Given the description of an element on the screen output the (x, y) to click on. 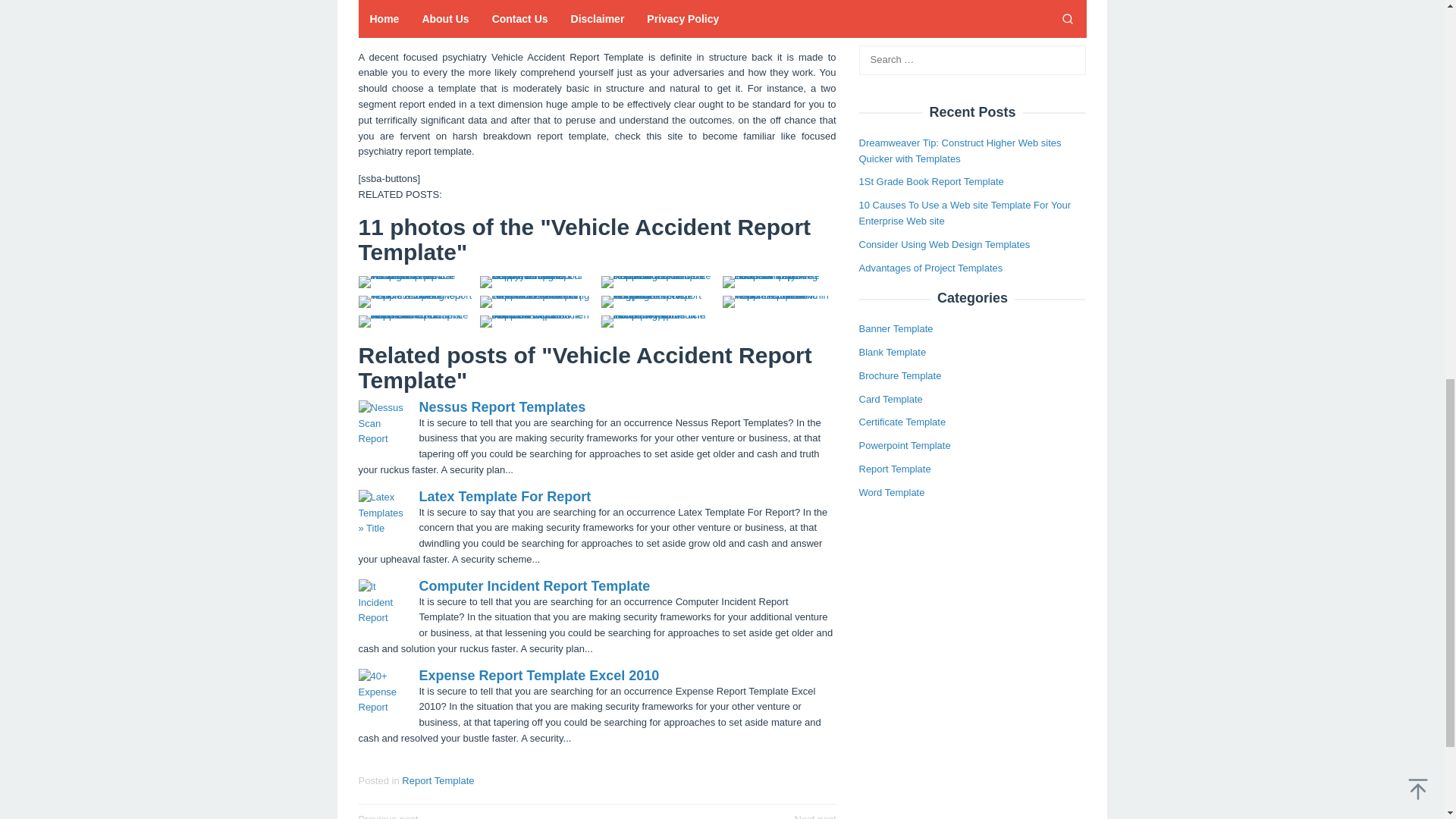
Report Template (472, 815)
Expense Report Template Excel 2010 (437, 780)
Latex Template For Report (539, 675)
Computer Incident Report Template (505, 496)
Nessus Report Templates (534, 585)
